Given the description of an element on the screen output the (x, y) to click on. 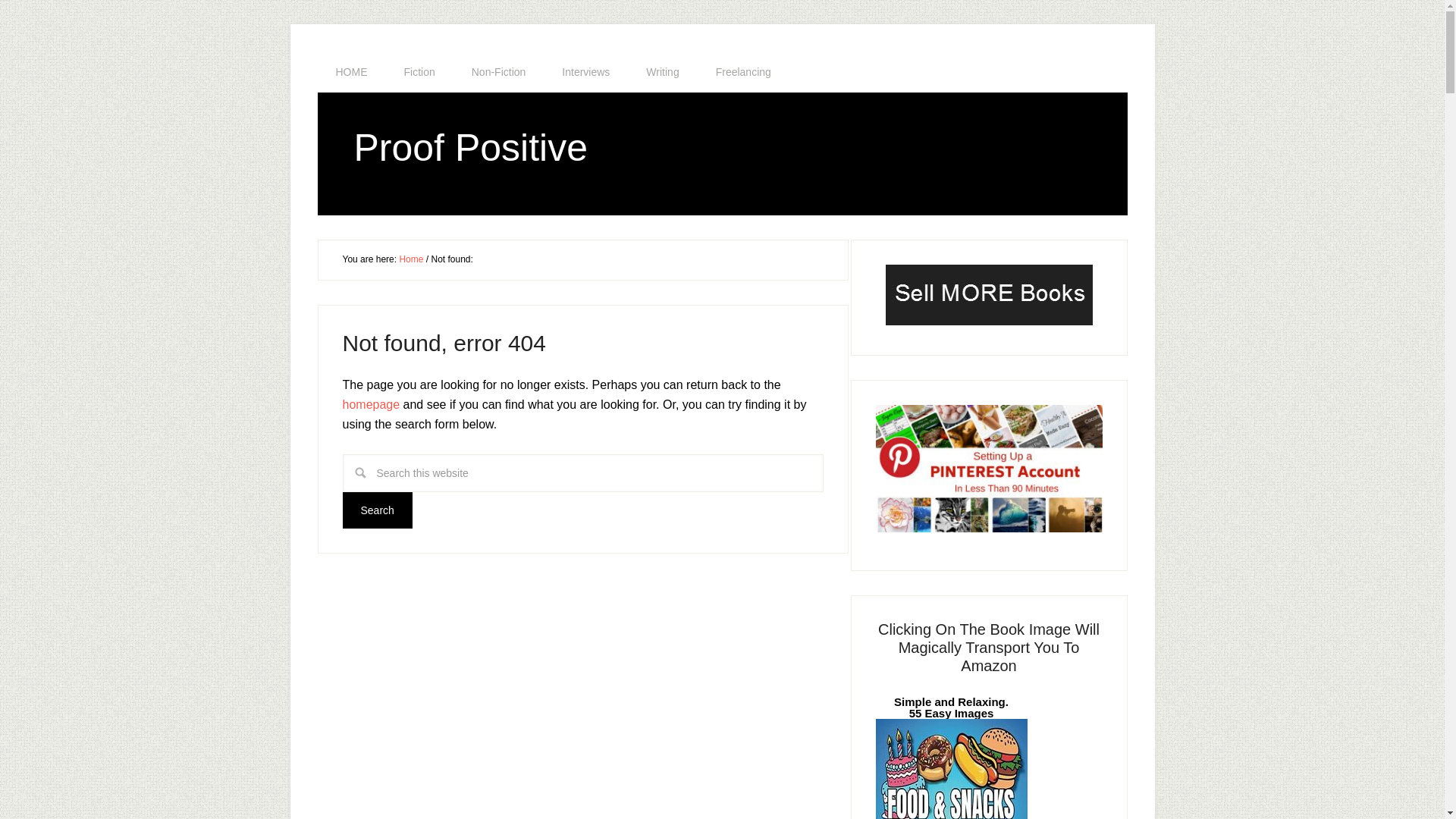
Proof Positive (469, 147)
Search (377, 509)
Home (410, 258)
HOME (351, 71)
Search (377, 509)
Interviews (585, 71)
homepage (371, 403)
Search (377, 509)
Non-Fiction (498, 71)
Fiction (418, 71)
Freelancing (743, 71)
Writing (662, 71)
